Given the description of an element on the screen output the (x, y) to click on. 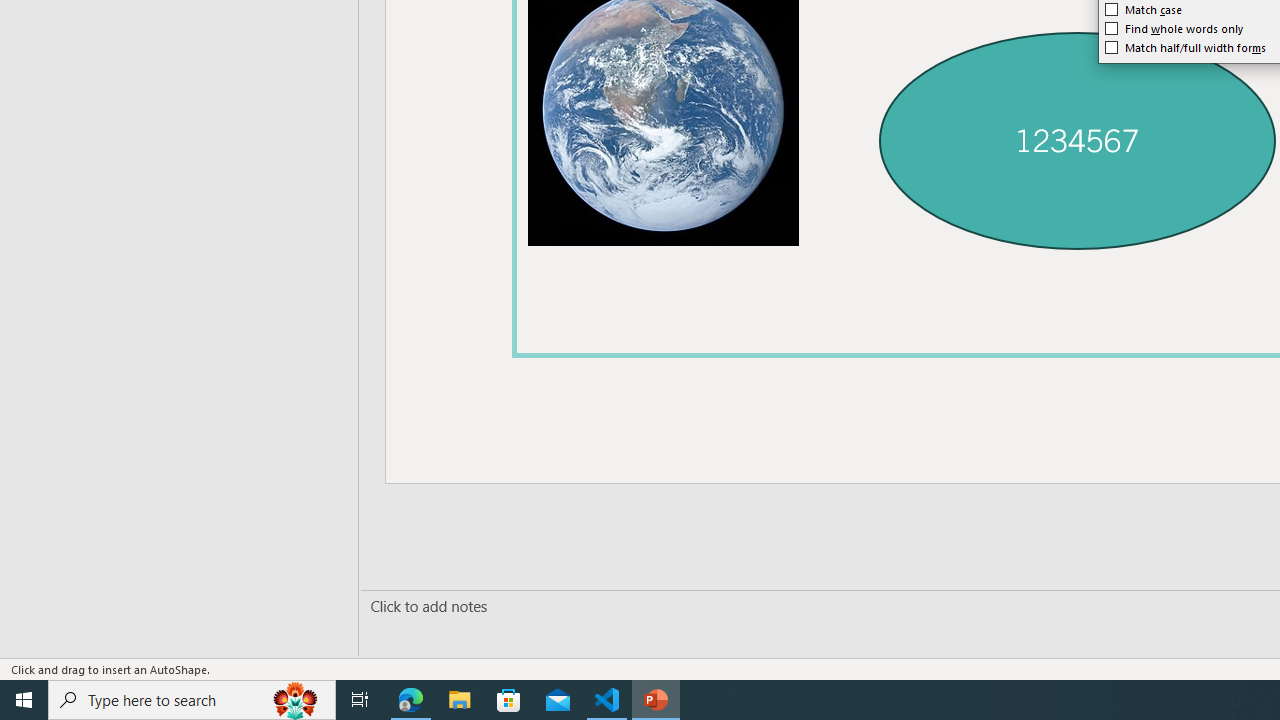
Microsoft Edge - 1 running window (411, 699)
Type here to search (191, 699)
Visual Studio Code - 1 running window (607, 699)
Start (24, 699)
PowerPoint - 1 running window (656, 699)
File Explorer (460, 699)
Microsoft Store (509, 699)
Match half/full width forms (1186, 48)
Task View (359, 699)
Match case (1144, 10)
Find whole words only (1174, 28)
Search highlights icon opens search home window (295, 699)
